Given the description of an element on the screen output the (x, y) to click on. 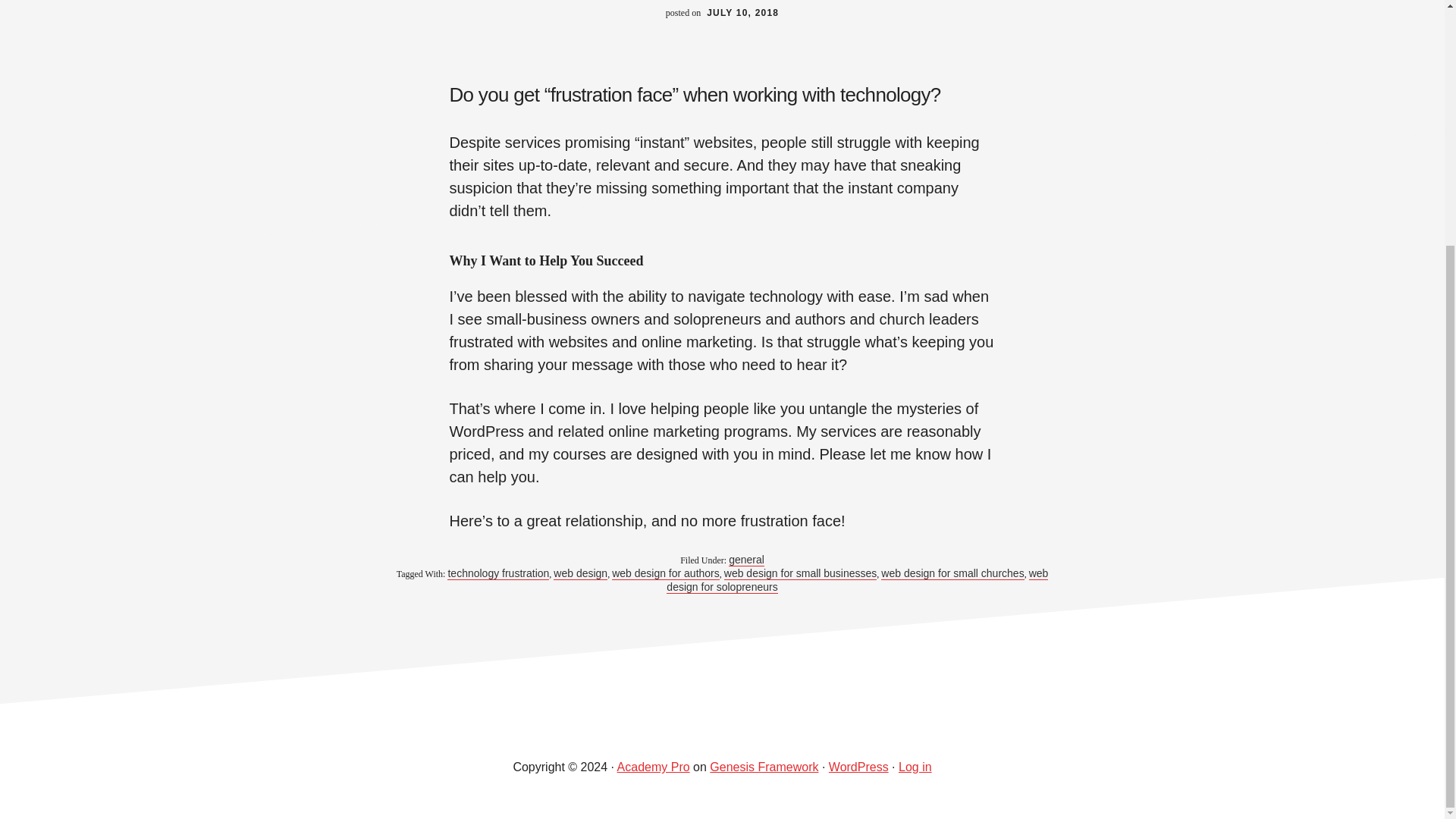
general (746, 559)
web design for authors (665, 573)
web design for small businesses (800, 573)
Academy Pro (653, 766)
web design for solopreneurs (857, 580)
web design (580, 573)
Log in (914, 766)
WordPress (858, 766)
technology frustration (497, 573)
web design for small churches (951, 573)
Genesis Framework (764, 766)
